Given the description of an element on the screen output the (x, y) to click on. 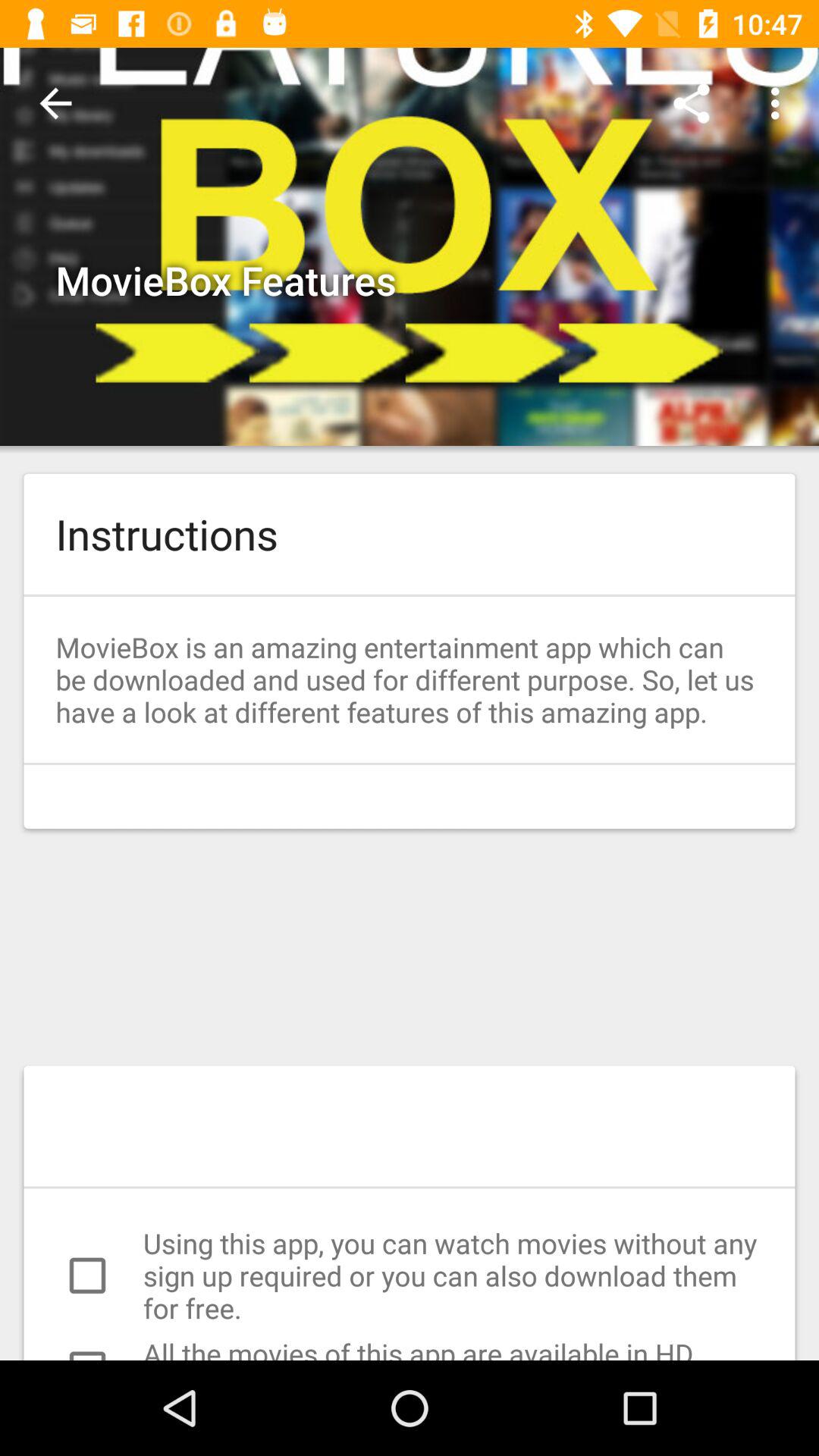
press the item below using this app item (409, 1347)
